Given the description of an element on the screen output the (x, y) to click on. 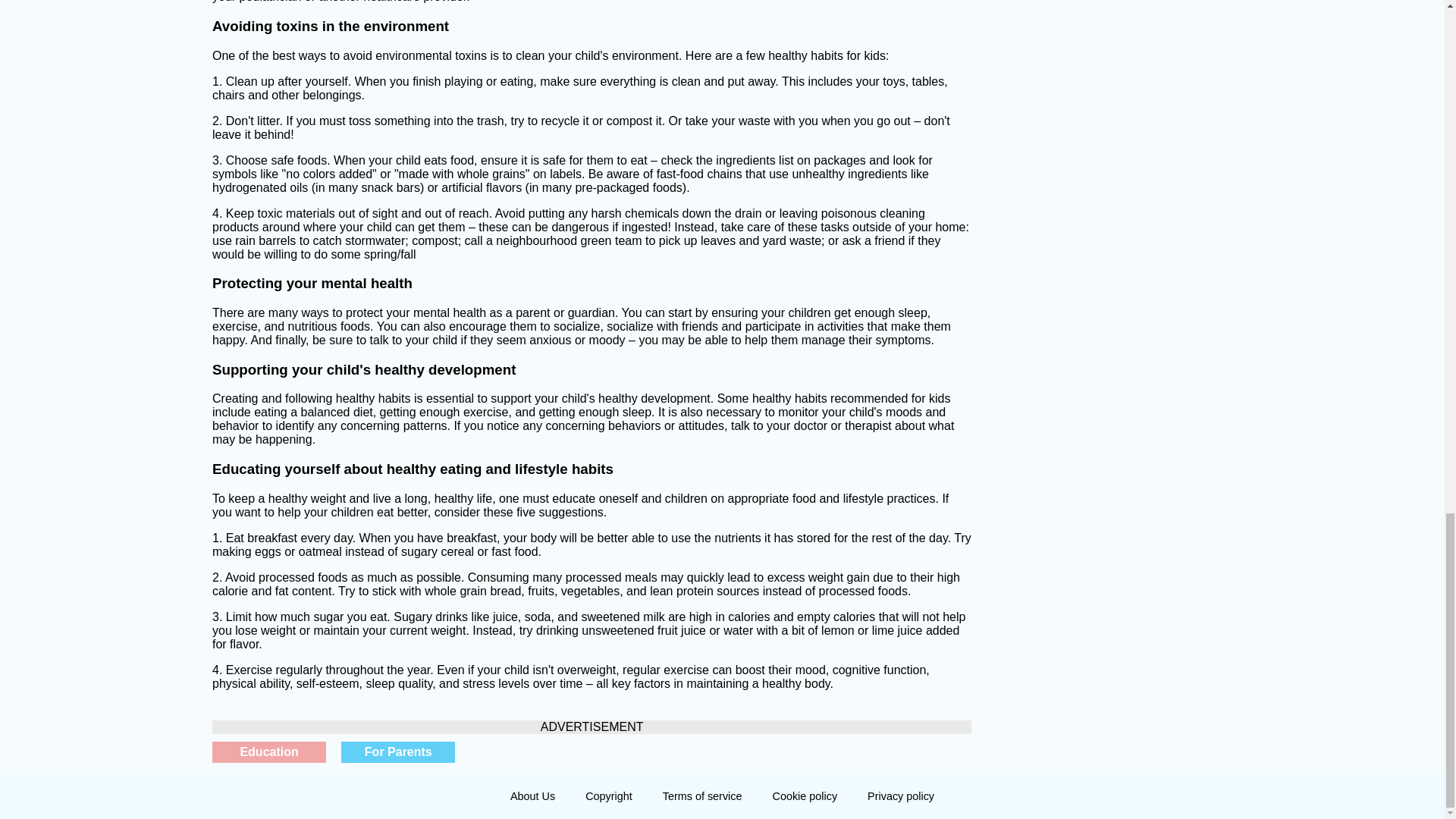
For Parents (397, 752)
Education (269, 752)
Privacy policy (900, 795)
Terms of service (702, 795)
About Us (532, 795)
Copyright (608, 795)
Cookie policy (804, 795)
